Given the description of an element on the screen output the (x, y) to click on. 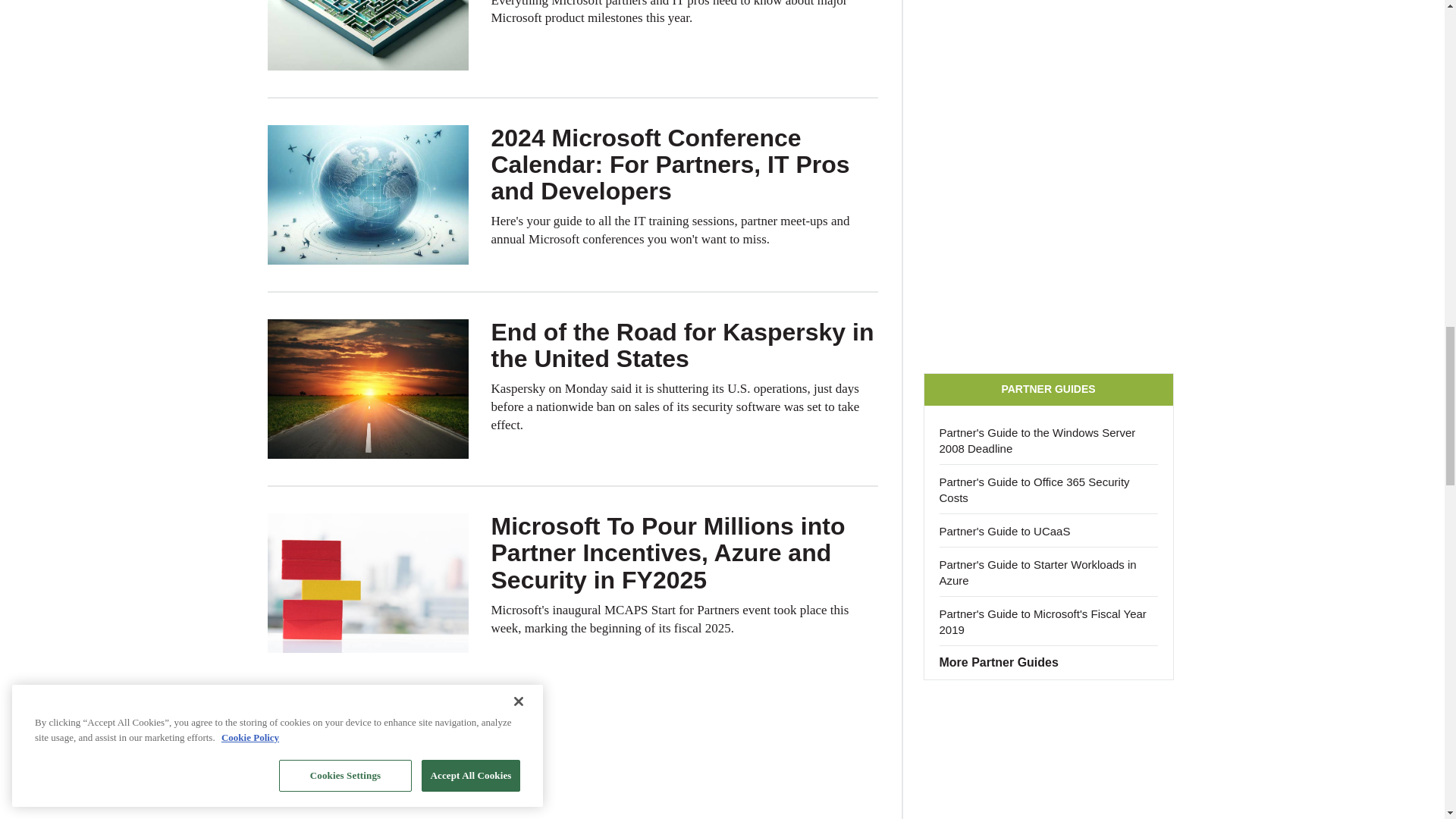
3rd party ad content (1047, 757)
